Given the description of an element on the screen output the (x, y) to click on. 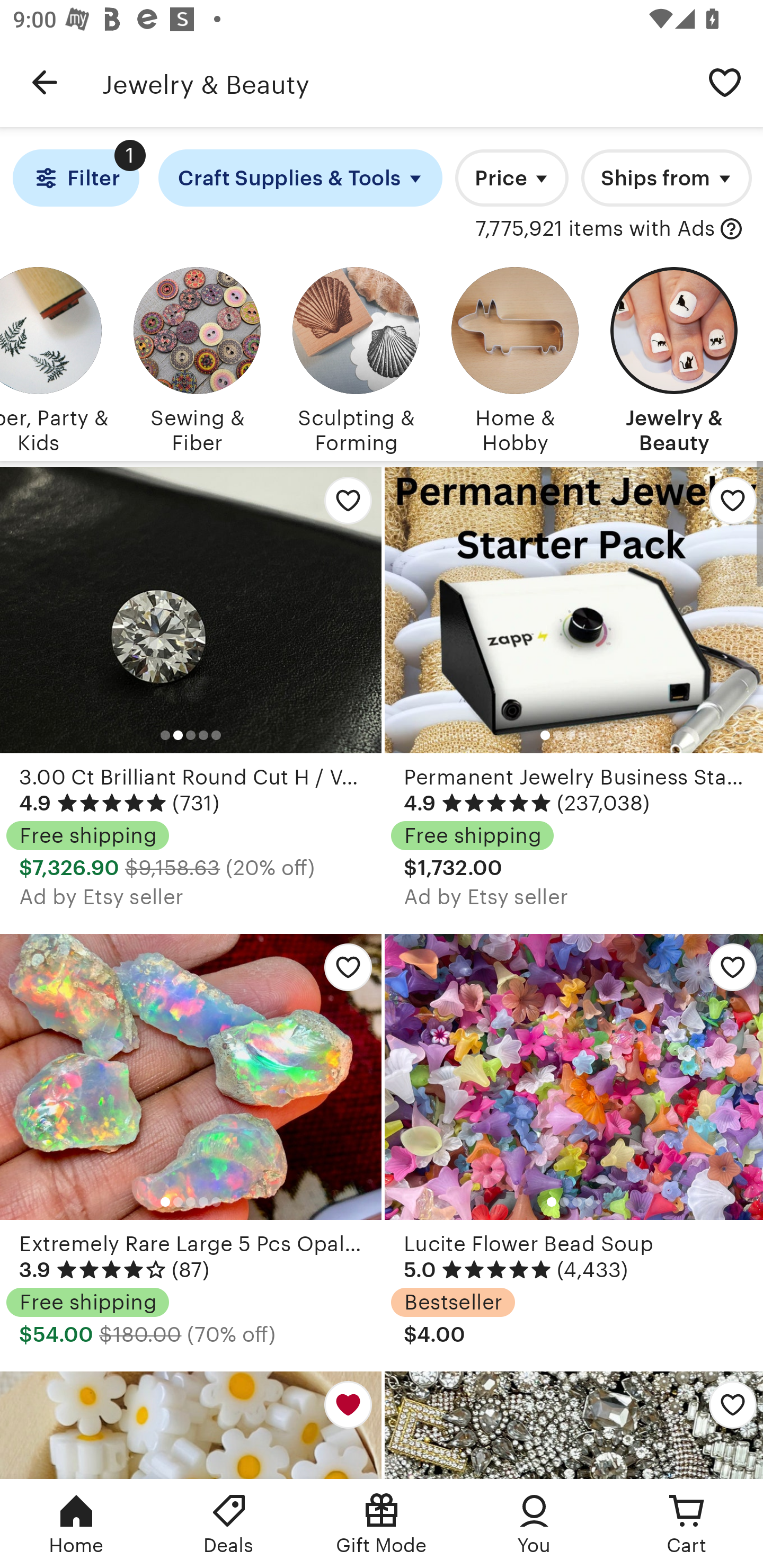
Navigate up (44, 82)
Save search (724, 81)
Jewelry & Beauty (393, 82)
Filter (75, 177)
Craft Supplies & Tools (300, 177)
Price (511, 177)
Ships from (666, 177)
7,775,921 items with Ads (595, 228)
with Ads (730, 228)
Paper, Party & Kids (54, 357)
Sewing & Fiber (197, 357)
Sculpting & Forming (355, 357)
Home & Hobby (514, 357)
Jewelry & Beauty (673, 357)
Add Lucite Flower Bead Soup to favorites (726, 971)
Deals (228, 1523)
Gift Mode (381, 1523)
You (533, 1523)
Cart (686, 1523)
